Given the description of an element on the screen output the (x, y) to click on. 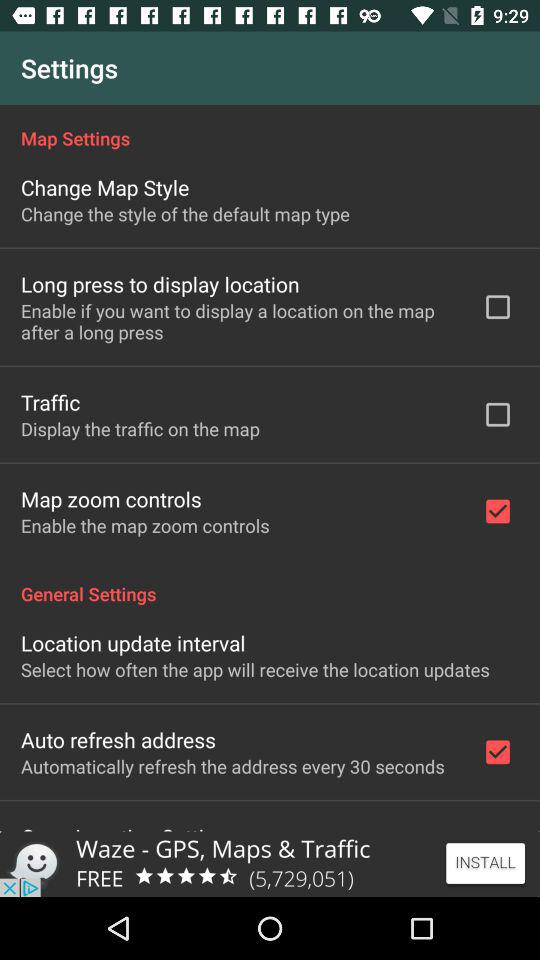
press the icon above the select how often item (133, 642)
